Given the description of an element on the screen output the (x, y) to click on. 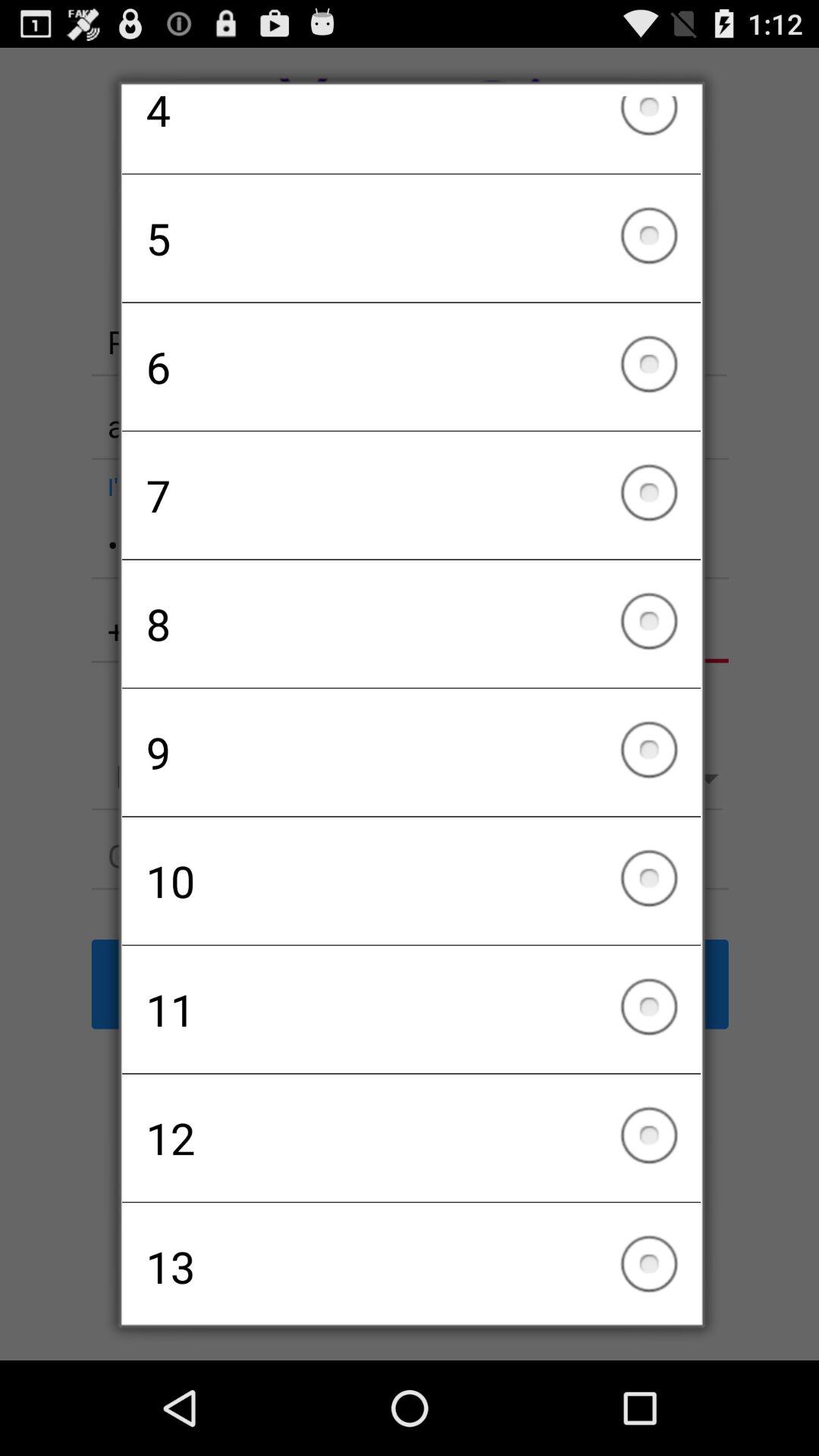
open icon below 7 icon (411, 623)
